Given the description of an element on the screen output the (x, y) to click on. 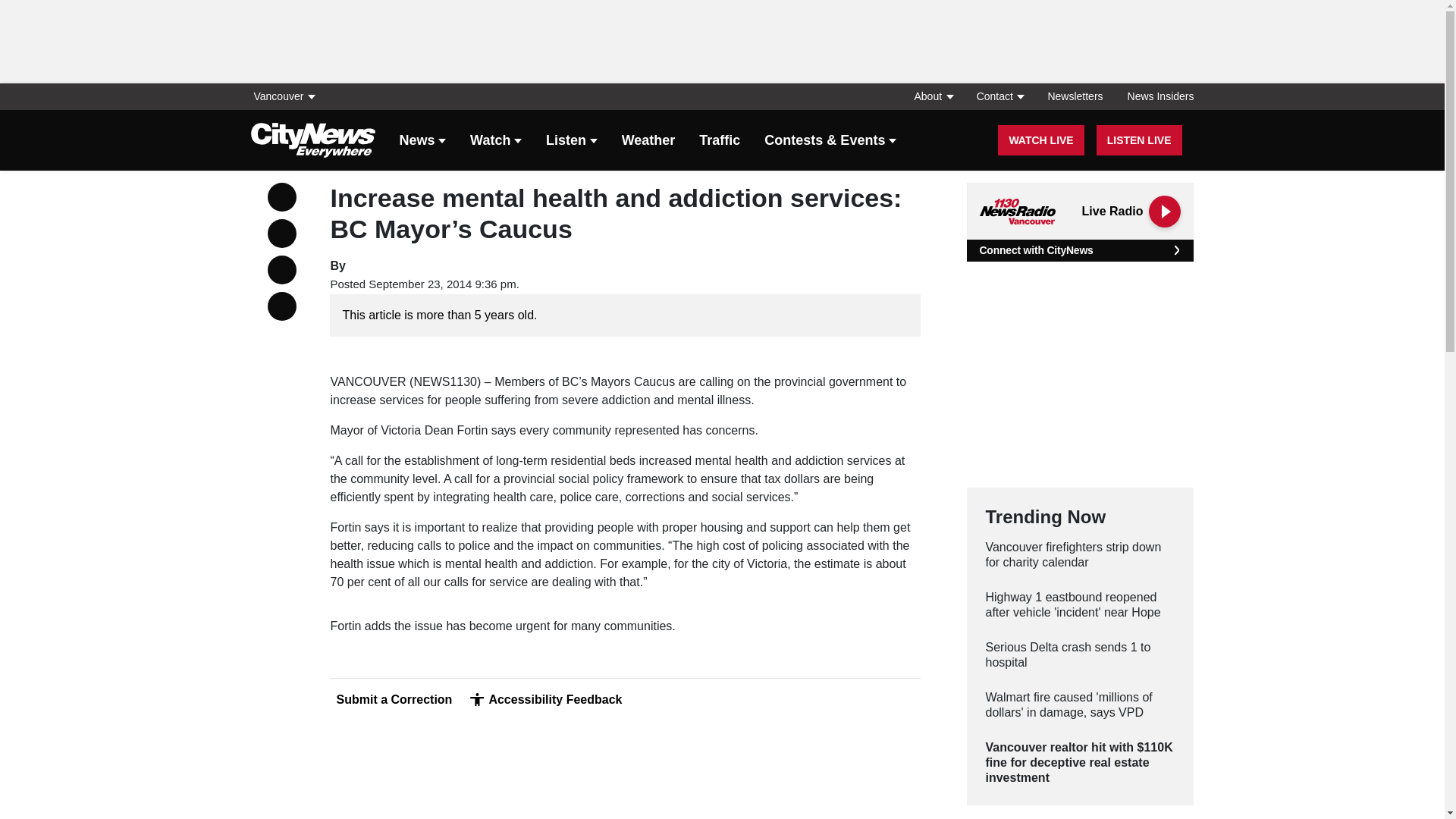
Vancouver (287, 96)
Submit a Correction (390, 698)
Watch (495, 140)
News Insiders (1154, 96)
Contact (999, 96)
News (421, 140)
Accessibility Feedback (545, 698)
Listen (571, 140)
Newsletters (1075, 96)
About (932, 96)
Vancouver firefighters strip down for charity calendar (1079, 554)
